Given the description of an element on the screen output the (x, y) to click on. 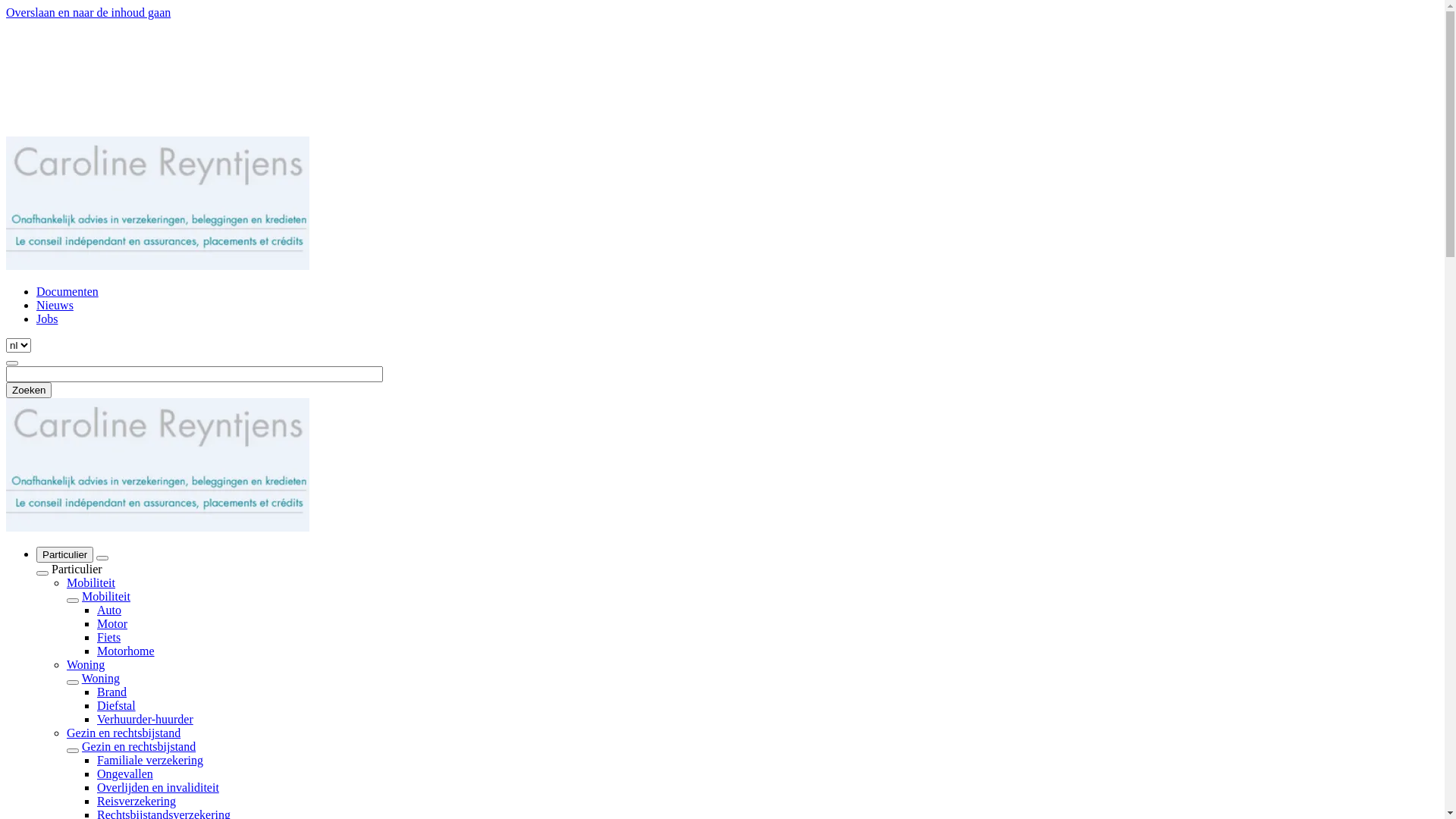
Nieuws Element type: text (54, 304)
Jobs Element type: text (46, 318)
Brand Element type: text (111, 691)
Fiets Element type: text (108, 636)
Diefstal Element type: text (116, 705)
Auto Element type: text (109, 609)
Verhuurder-huurder Element type: text (145, 718)
Zoeken Element type: text (28, 390)
Particulier Element type: text (64, 554)
Woning Element type: text (100, 677)
Mobiliteit Element type: text (90, 582)
Ongevallen Element type: text (125, 773)
Reisverzekering Element type: text (136, 800)
Woning Element type: text (85, 664)
Overlijden en invaliditeit Element type: text (158, 787)
Motor Element type: text (112, 623)
Documenten Element type: text (67, 291)
Gezin en rechtsbijstand Element type: text (123, 732)
Mobiliteit Element type: text (105, 595)
Motorhome Element type: text (125, 650)
Gezin en rechtsbijstand Element type: text (138, 746)
Familiale verzekering Element type: text (150, 759)
Overslaan en naar de inhoud gaan Element type: text (88, 12)
